Given the description of an element on the screen output the (x, y) to click on. 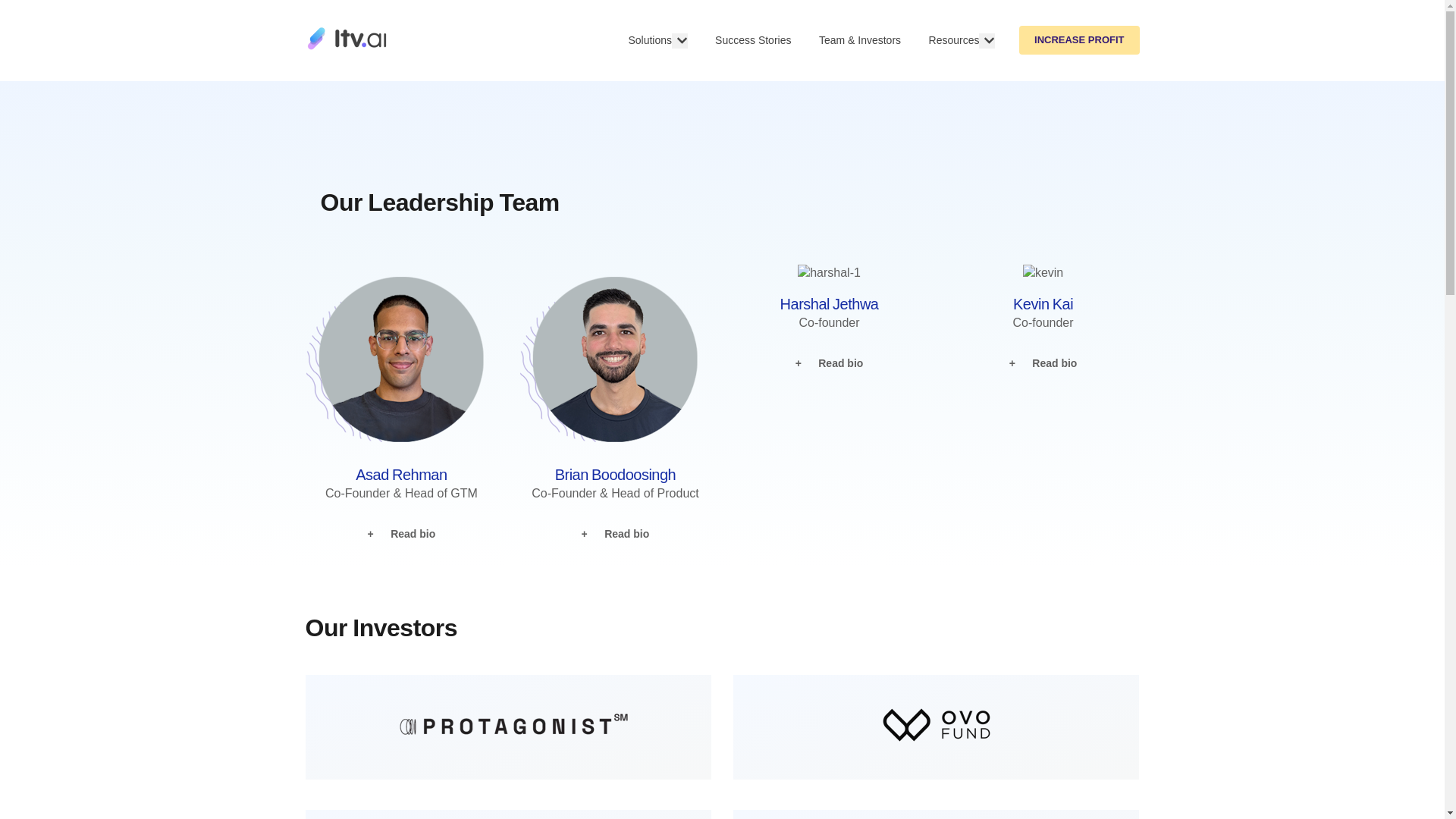
brian-boodoosingh-3 (615, 355)
harshal-1 (828, 272)
Success Stories (752, 40)
OVO Fund logo (935, 724)
Solutions (649, 40)
INCREASE PROFIT (1078, 39)
asad-rehman-1 (400, 355)
kevin (1042, 272)
Resources (953, 40)
protagonist (516, 724)
